Given the description of an element on the screen output the (x, y) to click on. 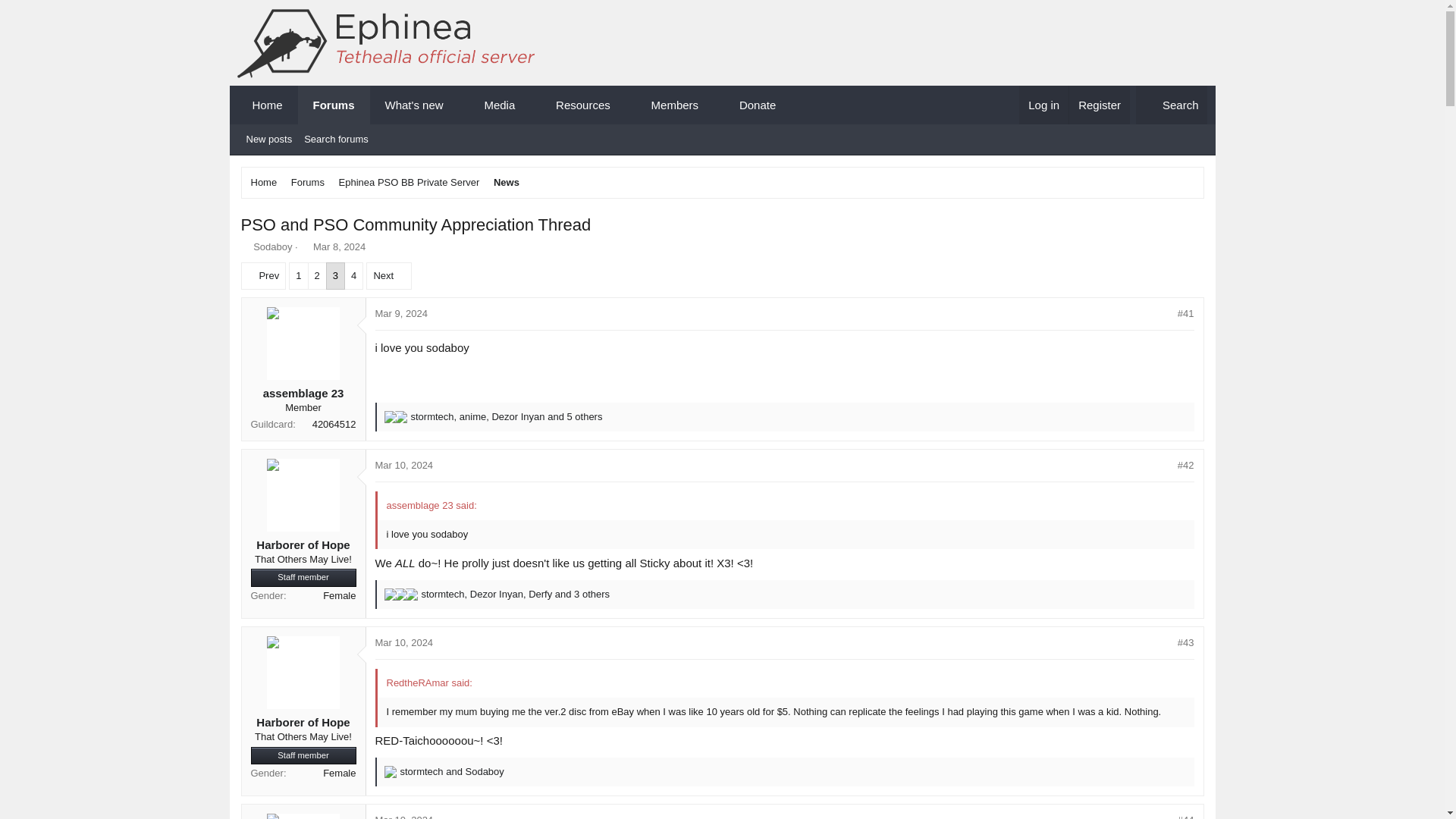
Like (390, 594)
Forums (333, 104)
Resources (575, 104)
Mar 9, 2024 at 11:49 PM (400, 313)
Members (668, 104)
Start date (304, 246)
Donate (756, 104)
Search (1171, 104)
Mar 10, 2024 at 4:15 PM (403, 642)
Home (266, 104)
